Given the description of an element on the screen output the (x, y) to click on. 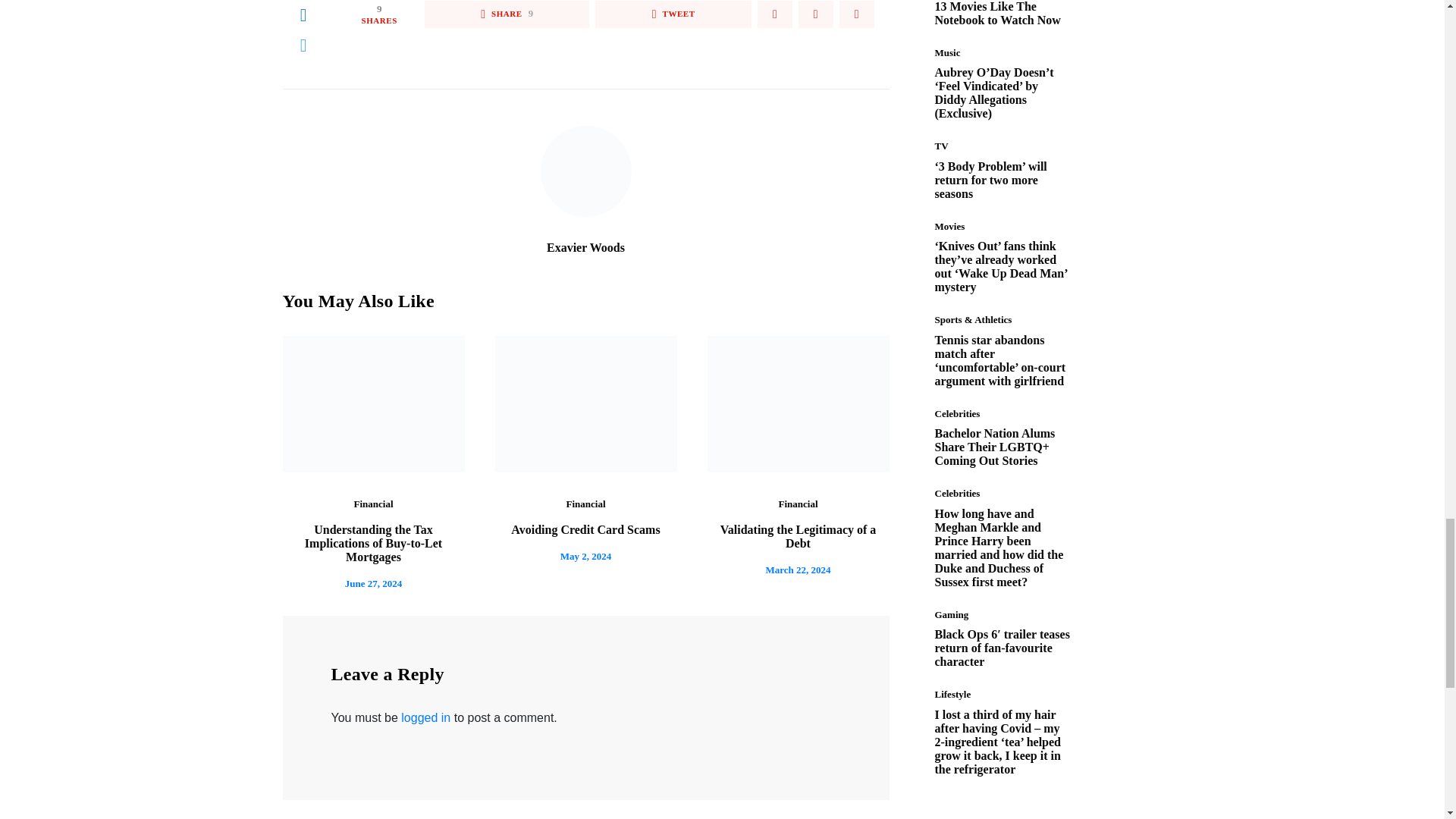
Avoiding Credit Card Scams 3 (586, 403)
Validating the Legitimacy of a Debt 4 (797, 403)
Understanding the Tax Implications of Buy-to-Let Mortgages 2 (373, 403)
